Given the description of an element on the screen output the (x, y) to click on. 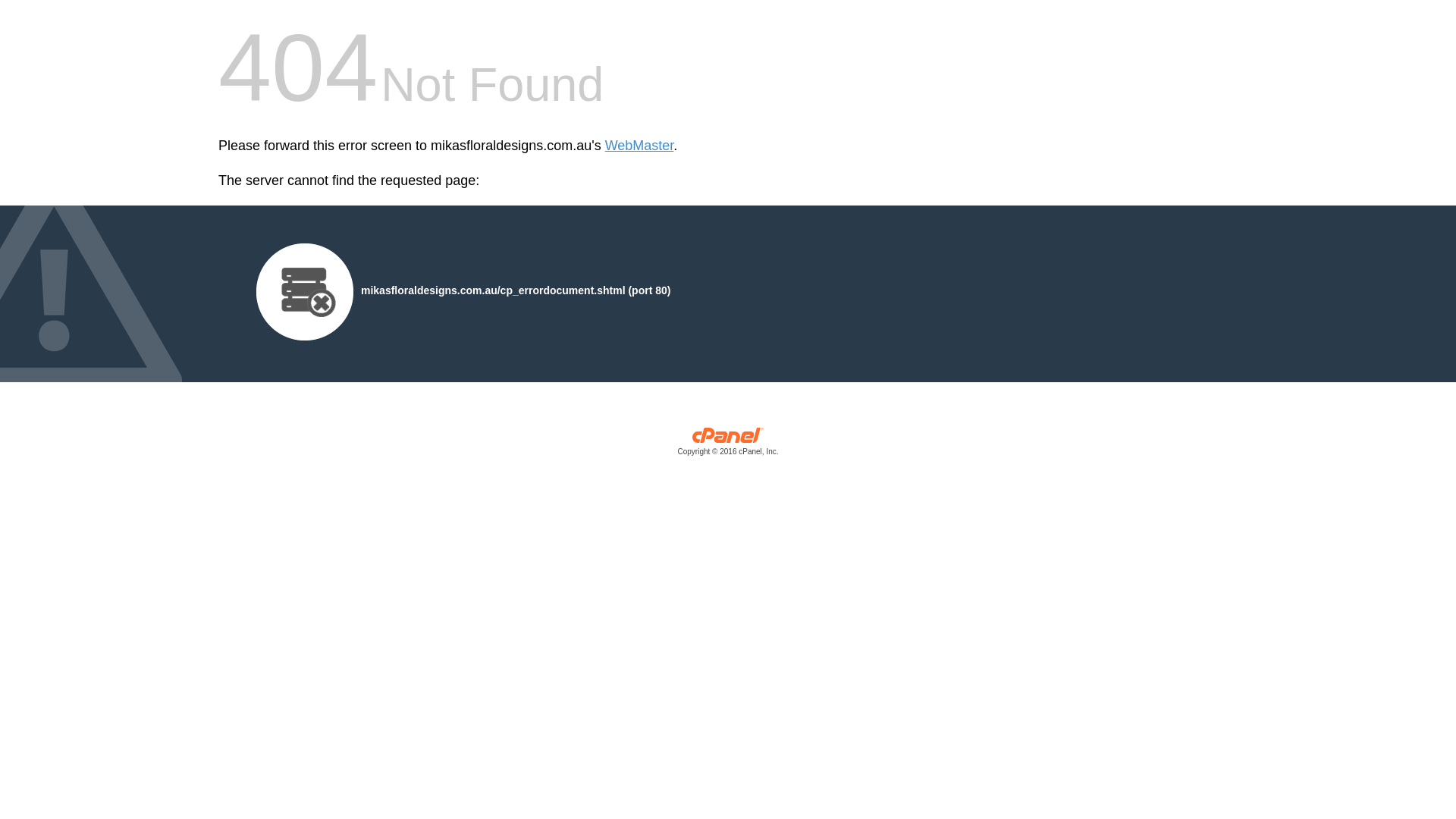
WebMaster Element type: text (639, 145)
